Given the description of an element on the screen output the (x, y) to click on. 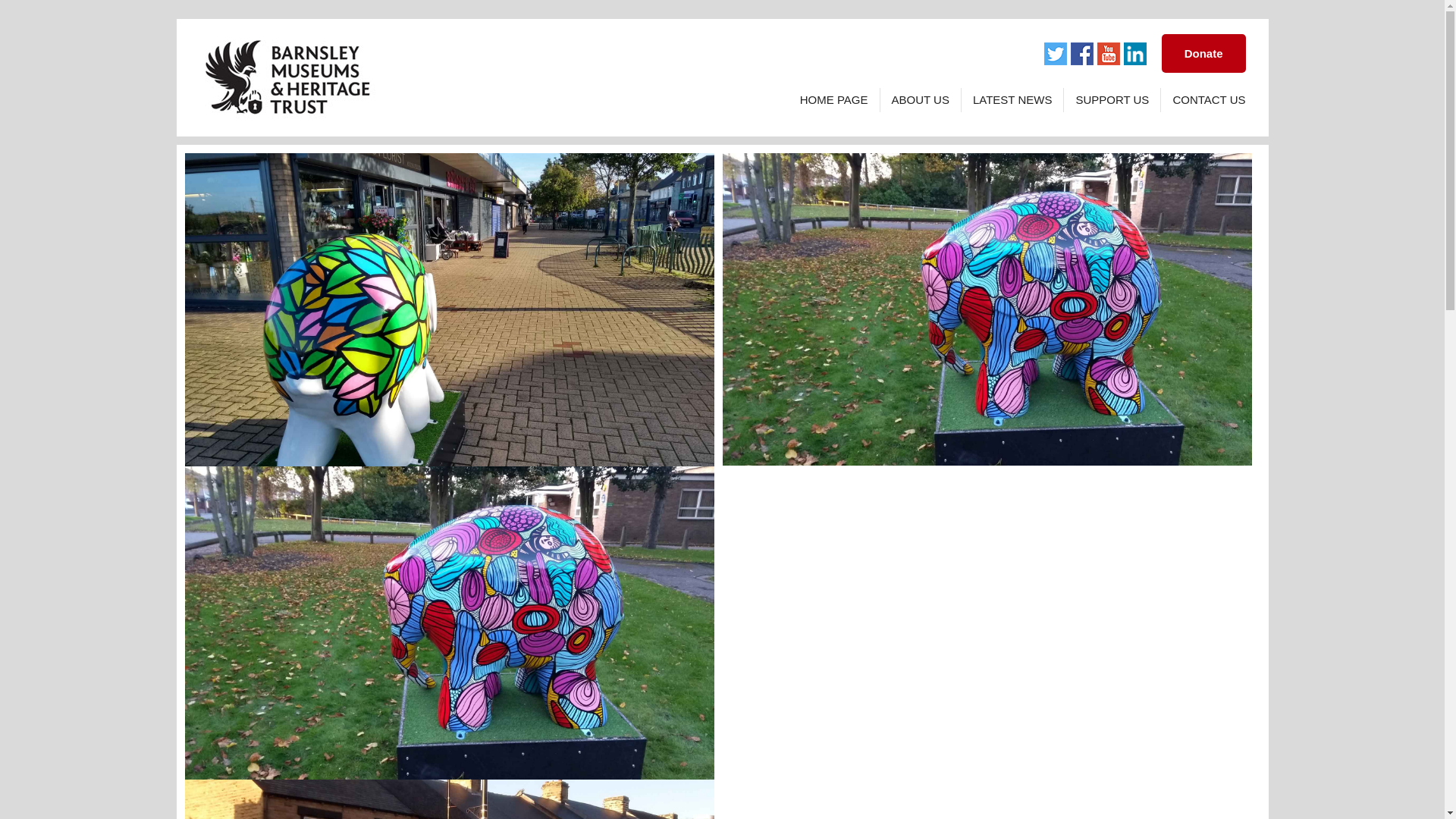
HOME PAGE (834, 99)
LATEST NEWS (1011, 99)
SUPPORT US (1112, 99)
CONTACT US (1202, 99)
ABOUT US (920, 99)
Donate (1203, 53)
